Given the description of an element on the screen output the (x, y) to click on. 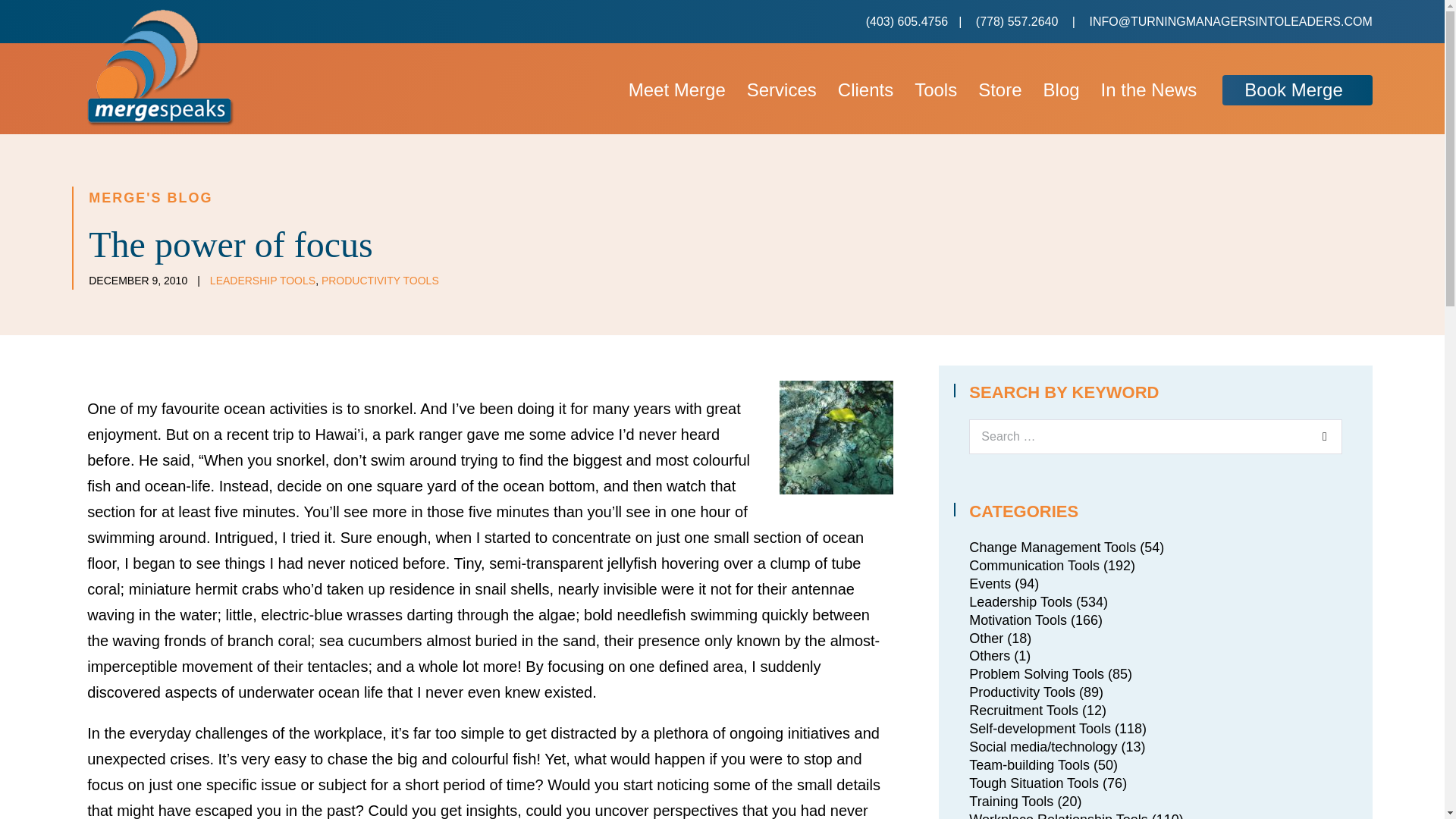
Press enter to search (1154, 436)
Book Merge (1296, 90)
In the News (1149, 90)
Store (1000, 90)
Blog (1061, 90)
PRODUCTIVITY TOOLS (380, 280)
merge-speaks-logo (160, 67)
Tools (936, 90)
Clients (865, 90)
Services (781, 90)
LEADERSHIP TOOLS (262, 280)
Meet Merge (676, 90)
